Given the description of an element on the screen output the (x, y) to click on. 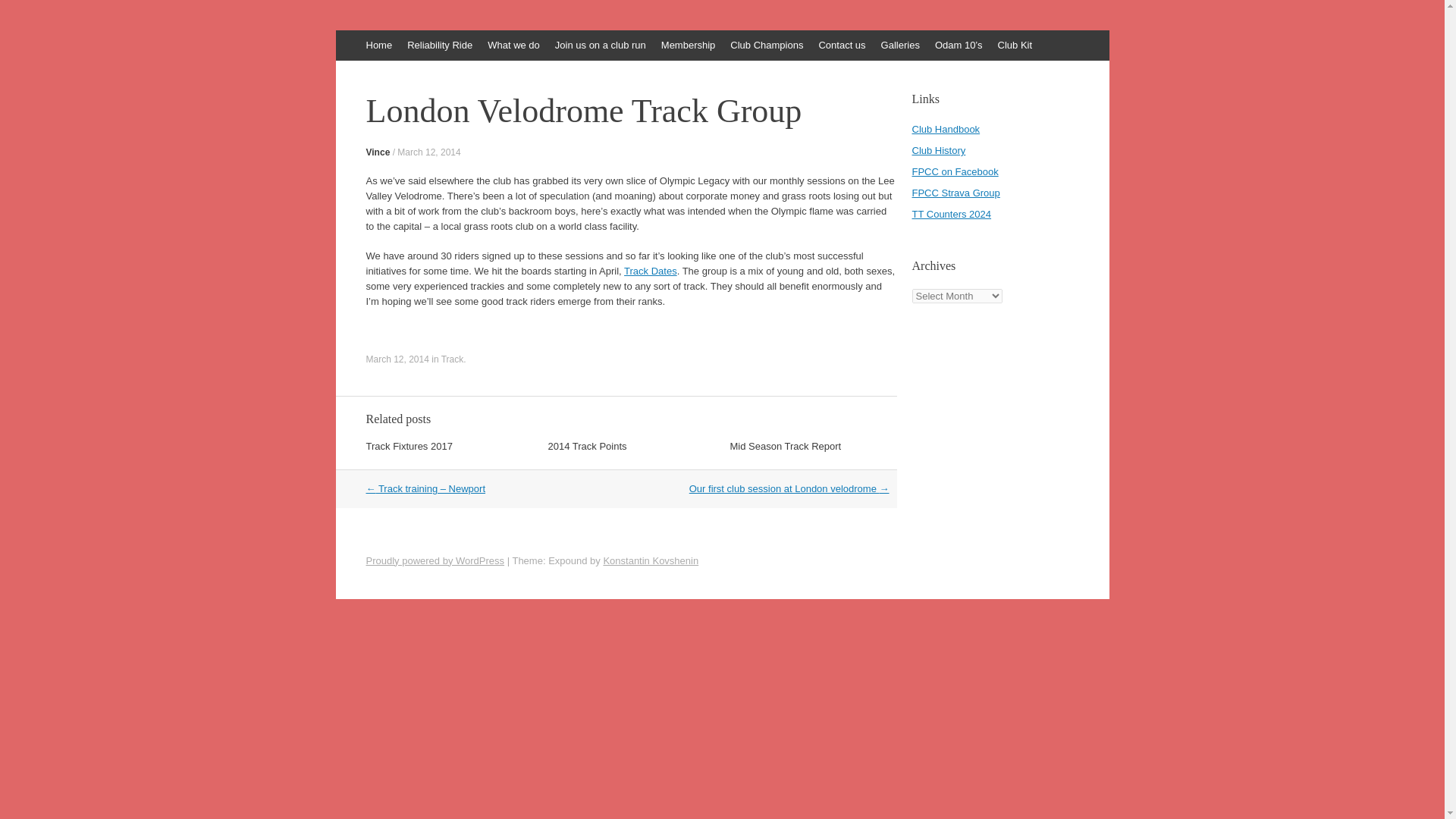
What we do (513, 45)
March 12, 2014 (428, 152)
Track Dates (650, 270)
Contact us (841, 45)
Permalink to 2014 Track Points (586, 446)
Permalink to Track Fixtures 2017 (408, 446)
Track Fixtures 2017 (408, 446)
Club Kit (1015, 45)
Mid Season Track Report (785, 446)
Join us on a club run (600, 45)
Track (452, 358)
List of counting events for club trophies (951, 214)
Home (378, 45)
Skip to content (342, 37)
Club facebook site (954, 171)
